Given the description of an element on the screen output the (x, y) to click on. 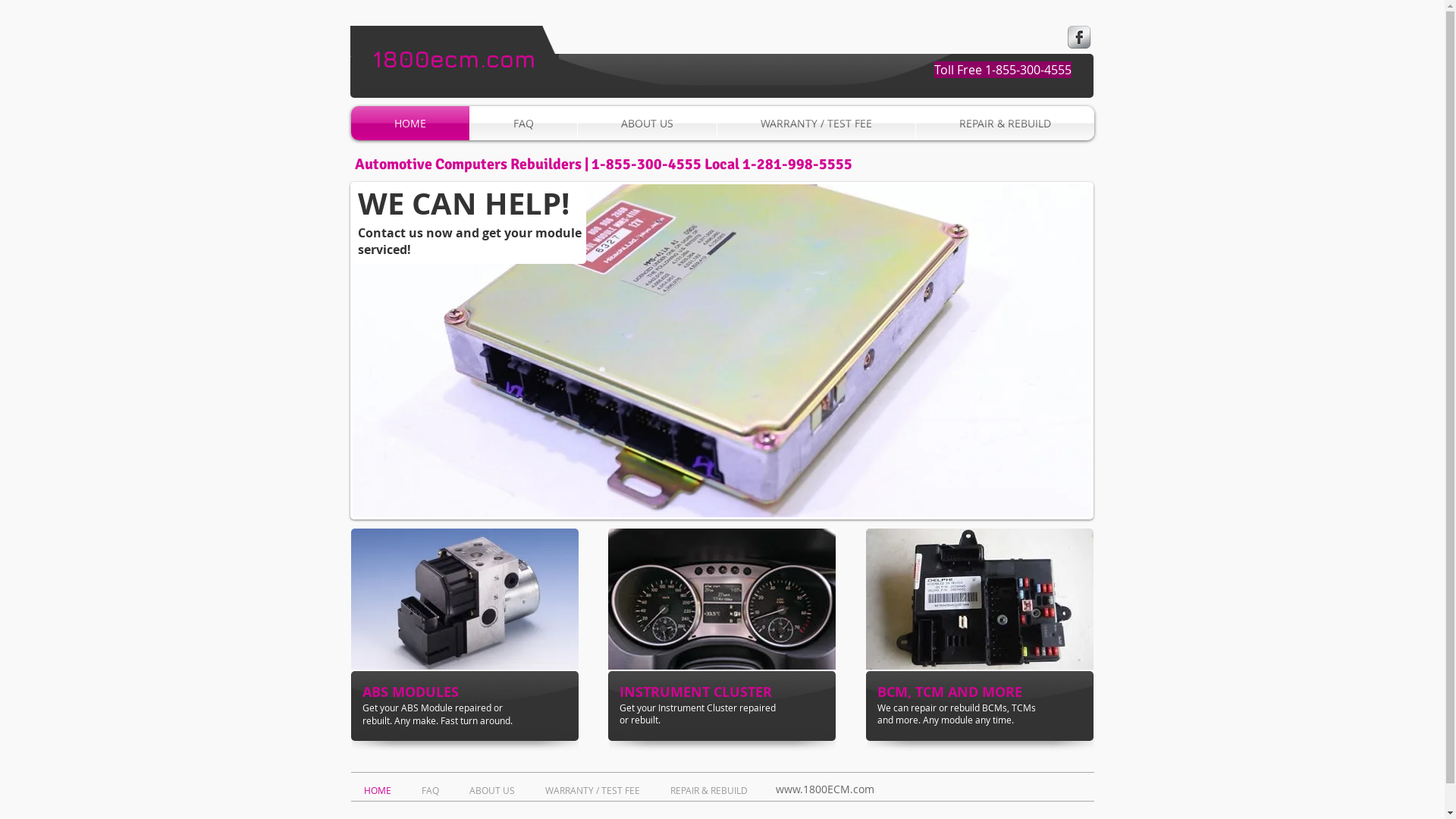
ABOUT US Element type: text (495, 788)
FAQ Element type: text (523, 123)
FAQ Element type: text (433, 788)
REPAIR & REBUILD Element type: text (1005, 123)
HOME Element type: text (380, 788)
WARRANTY / TEST FEE Element type: text (595, 788)
REPAIR & REBUILD Element type: text (711, 788)
www.1800ECM.com Element type: text (824, 788)
1800ecm.com Element type: text (454, 58)
ABOUT US Element type: text (646, 123)
HOME Element type: text (409, 123)
WARRANTY / TEST FEE Element type: text (816, 123)
